Given the description of an element on the screen output the (x, y) to click on. 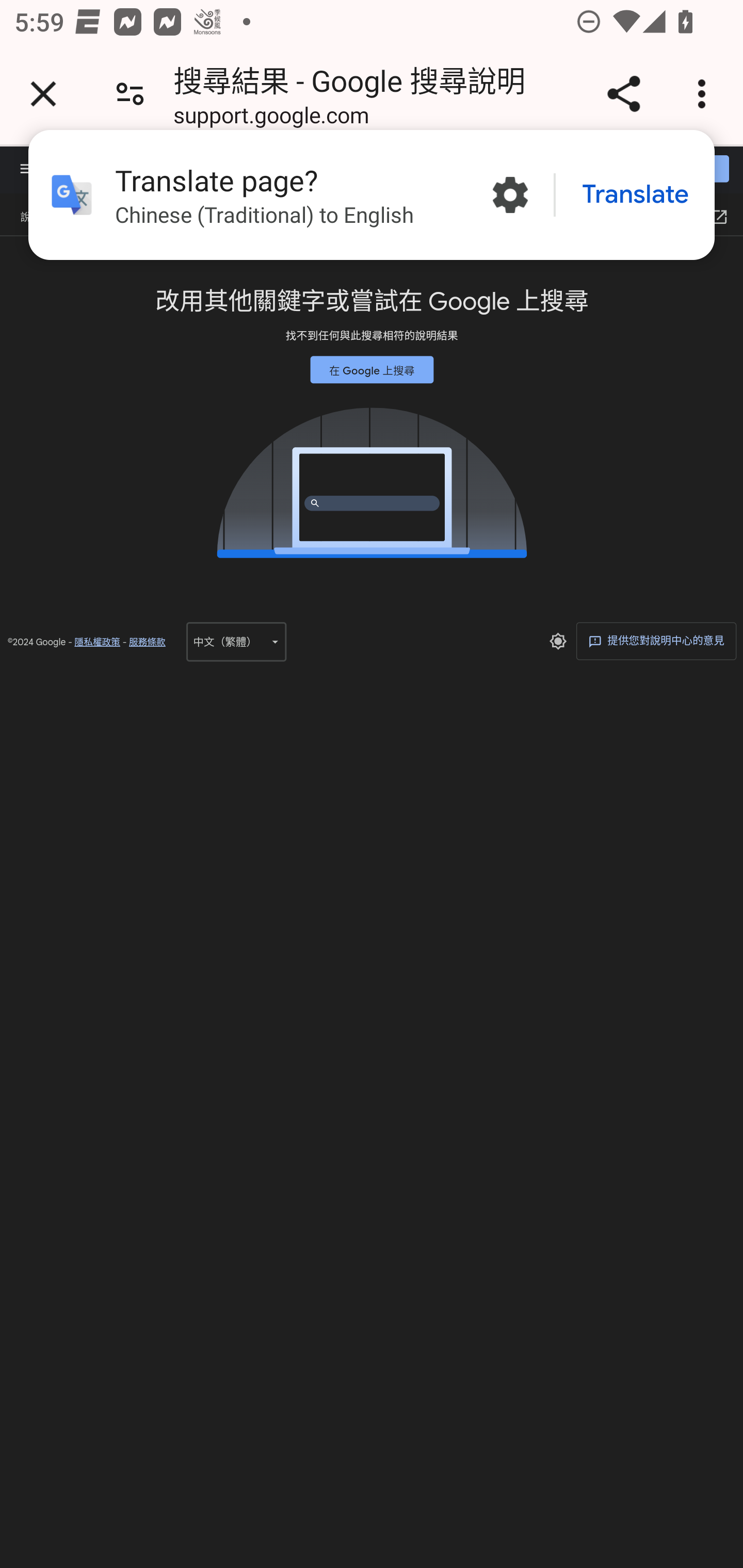
Close tab (43, 93)
Share (623, 93)
Customize and control Google Chrome (705, 93)
Connection is secure (129, 93)
support.google.com (271, 117)
Translate (634, 195)
More options in the Translate page? (509, 195)
在 Google 上搜尋 (371, 368)
選取語言 (中文（繁體）‎) (235, 640)
 提供您對說明中心的意見 (656, 640)
停用深色模式 (557, 641)
隱私權政策 (97, 641)
服務條款 (146, 641)
